Given the description of an element on the screen output the (x, y) to click on. 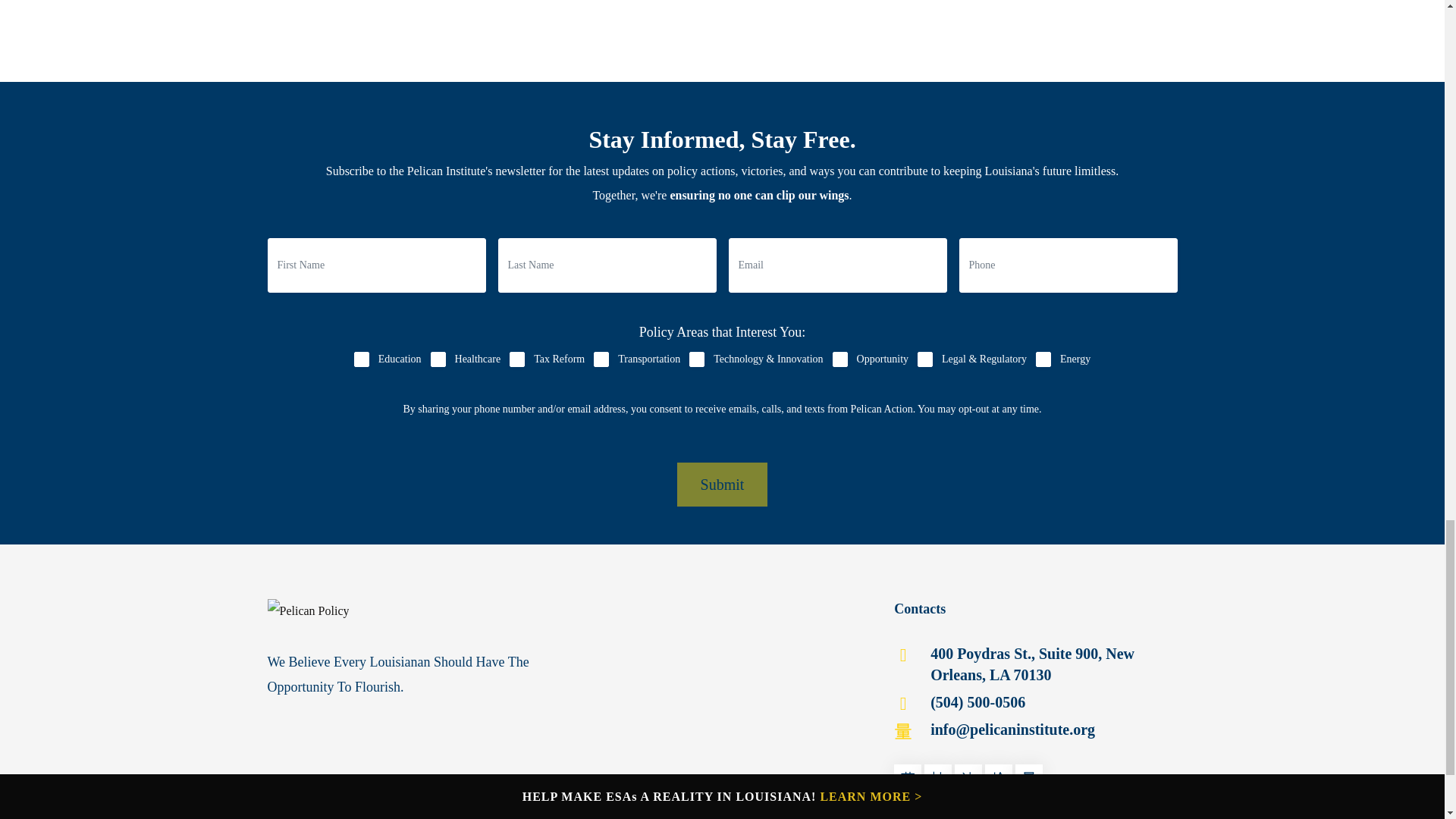
Tax Reform (516, 359)
Healthcare (437, 359)
Opportunity (839, 359)
Transportation (601, 359)
Education (361, 359)
Energy (1043, 359)
Submit (722, 484)
